Given the description of an element on the screen output the (x, y) to click on. 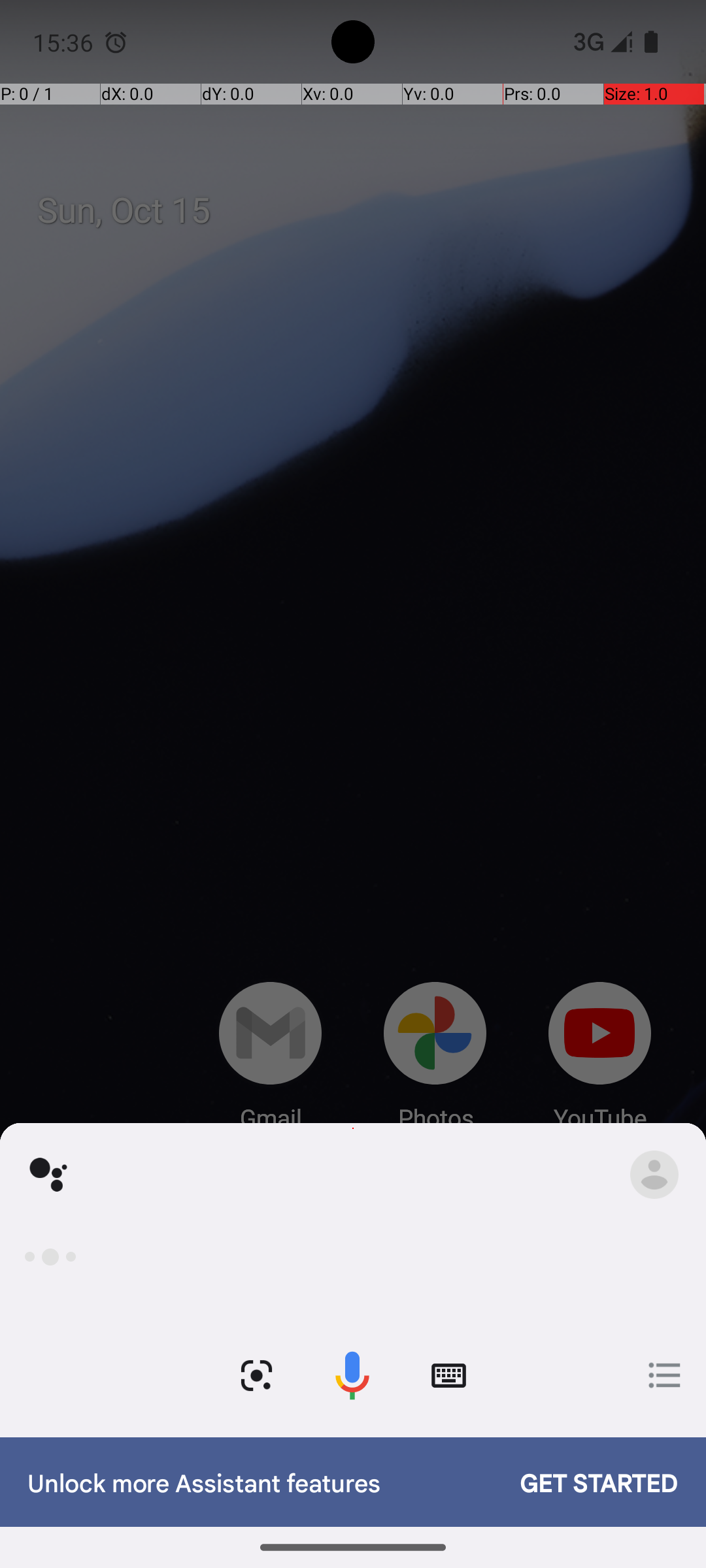
Voice search button, tap to speak Element type: android.view.View (351, 1375)
Unlock more Assistant features Element type: android.widget.TextView (259, 1481)
GET STARTED Element type: android.widget.TextView (585, 1481)
Google assistant Element type: android.widget.ImageView (48, 1174)
Google Assistant menu. Element type: android.widget.ImageView (654, 1174)
